Given the description of an element on the screen output the (x, y) to click on. 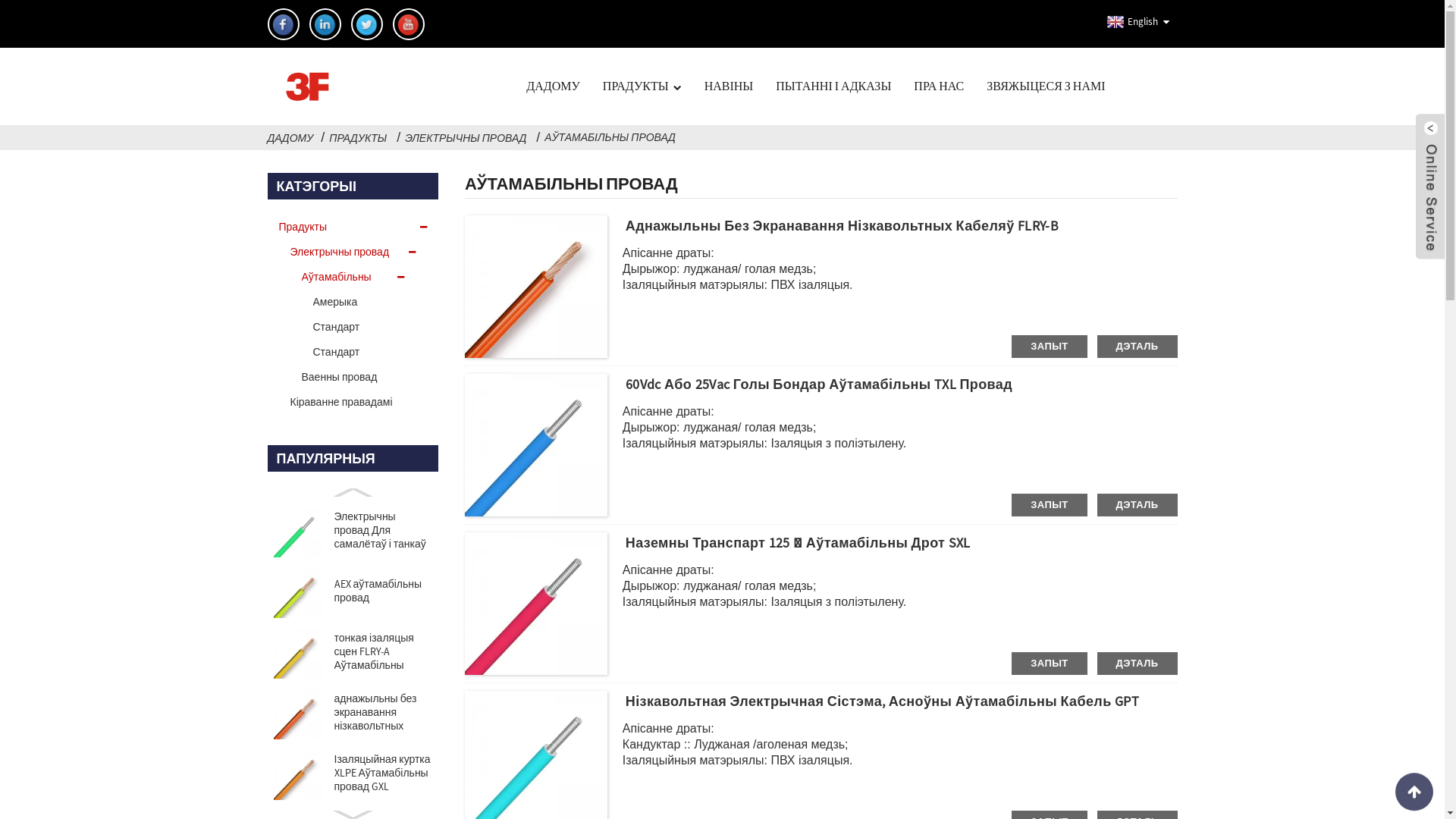
single core no shielding low voltage cables FLRY-B Element type: hover (610, 284)
low voltage electric system primary  automotive GPT cable Element type: hover (610, 760)
English Element type: text (1129, 21)
60Vdc or 25Vac bare cooper Automotive TXL wire Element type: hover (610, 443)
